Given the description of an element on the screen output the (x, y) to click on. 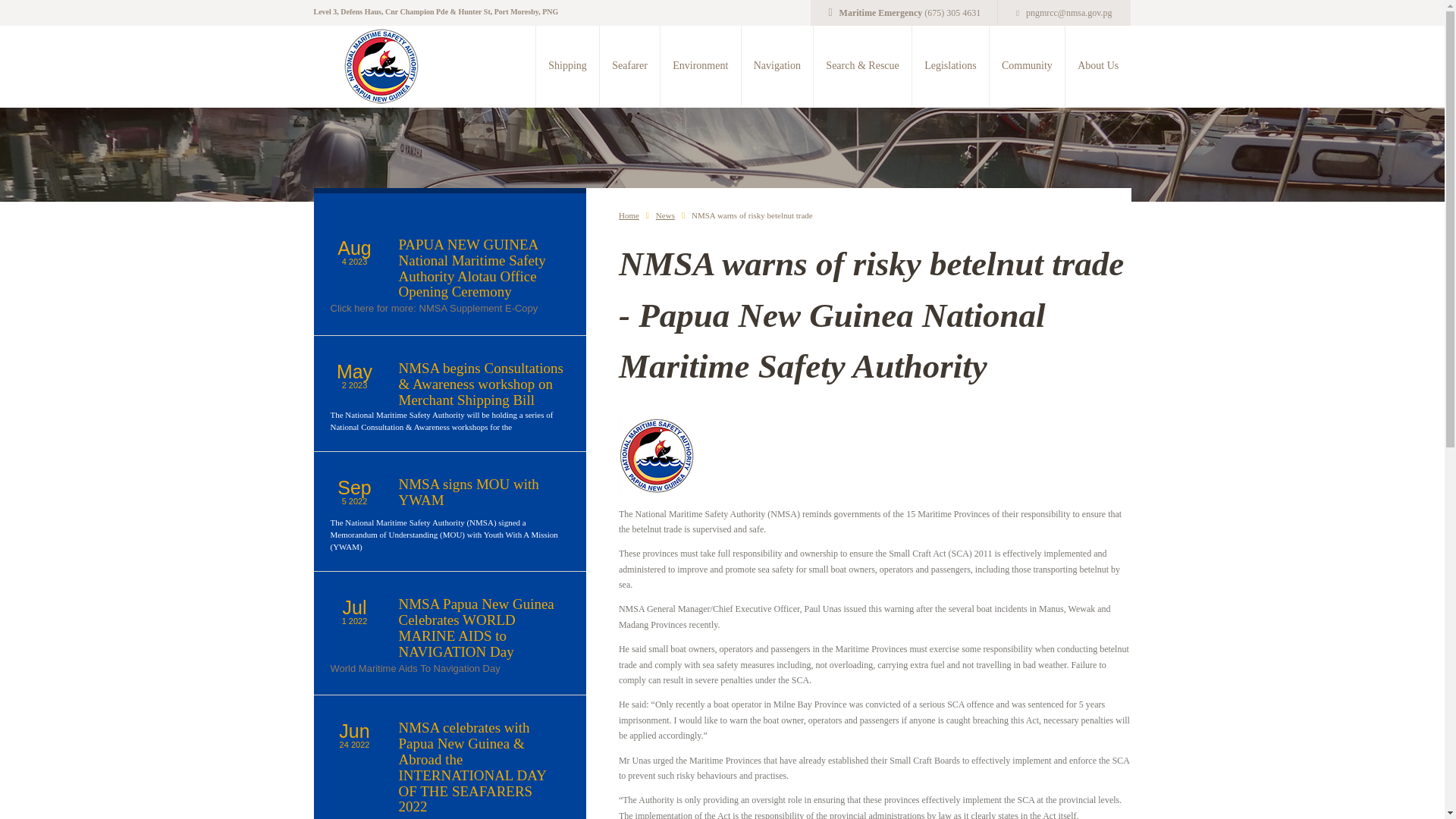
Community (1026, 66)
Environment (699, 66)
Legislations (949, 66)
Navigation (777, 66)
